Given the description of an element on the screen output the (x, y) to click on. 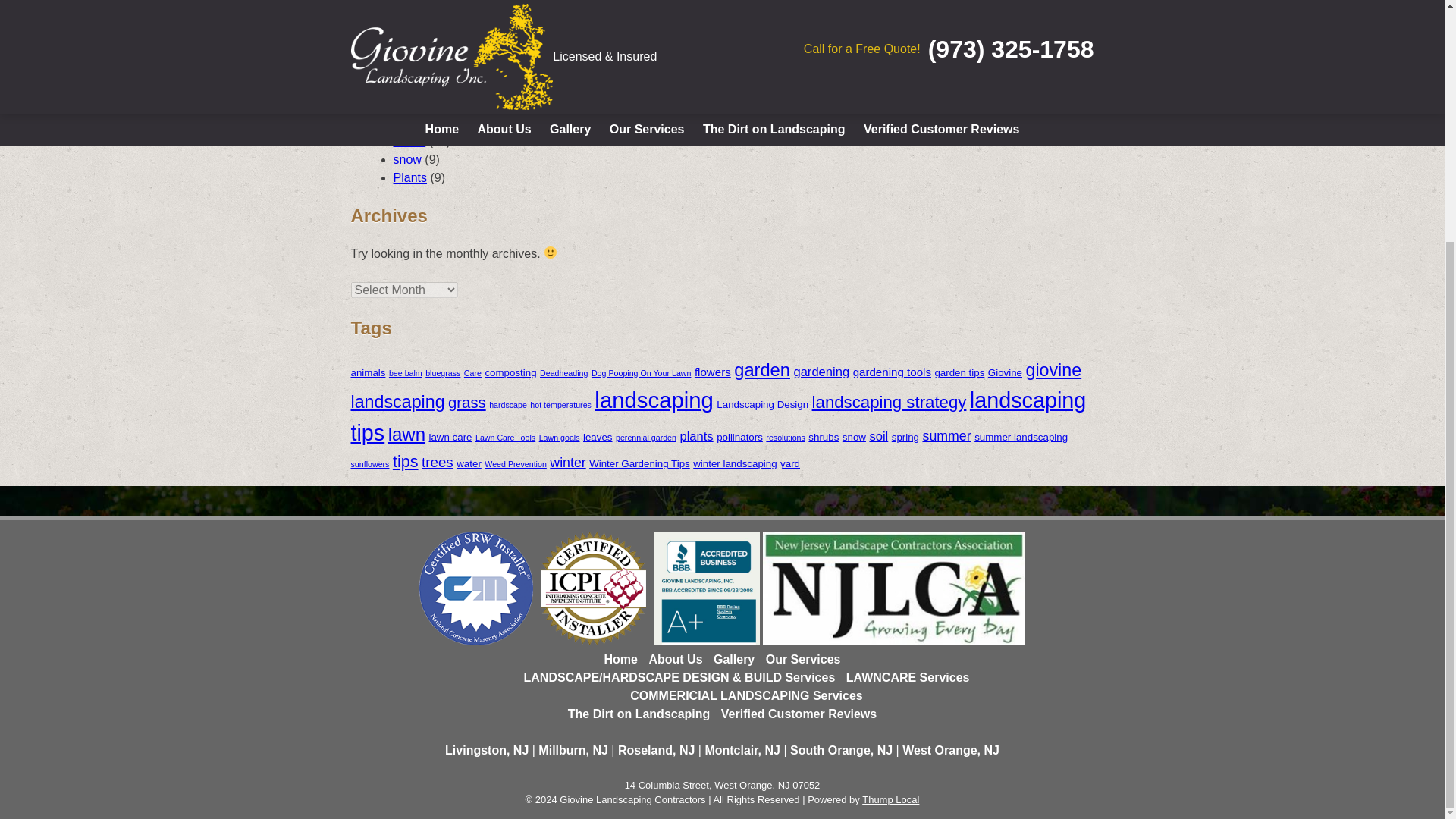
Deadheading (564, 372)
Giovine Landscaping (449, 50)
Uncategorized (431, 68)
garden (761, 370)
Lawn Care (422, 86)
flowers (712, 371)
Plants (409, 177)
composting (509, 372)
winter (409, 141)
bee balm (405, 372)
